Given the description of an element on the screen output the (x, y) to click on. 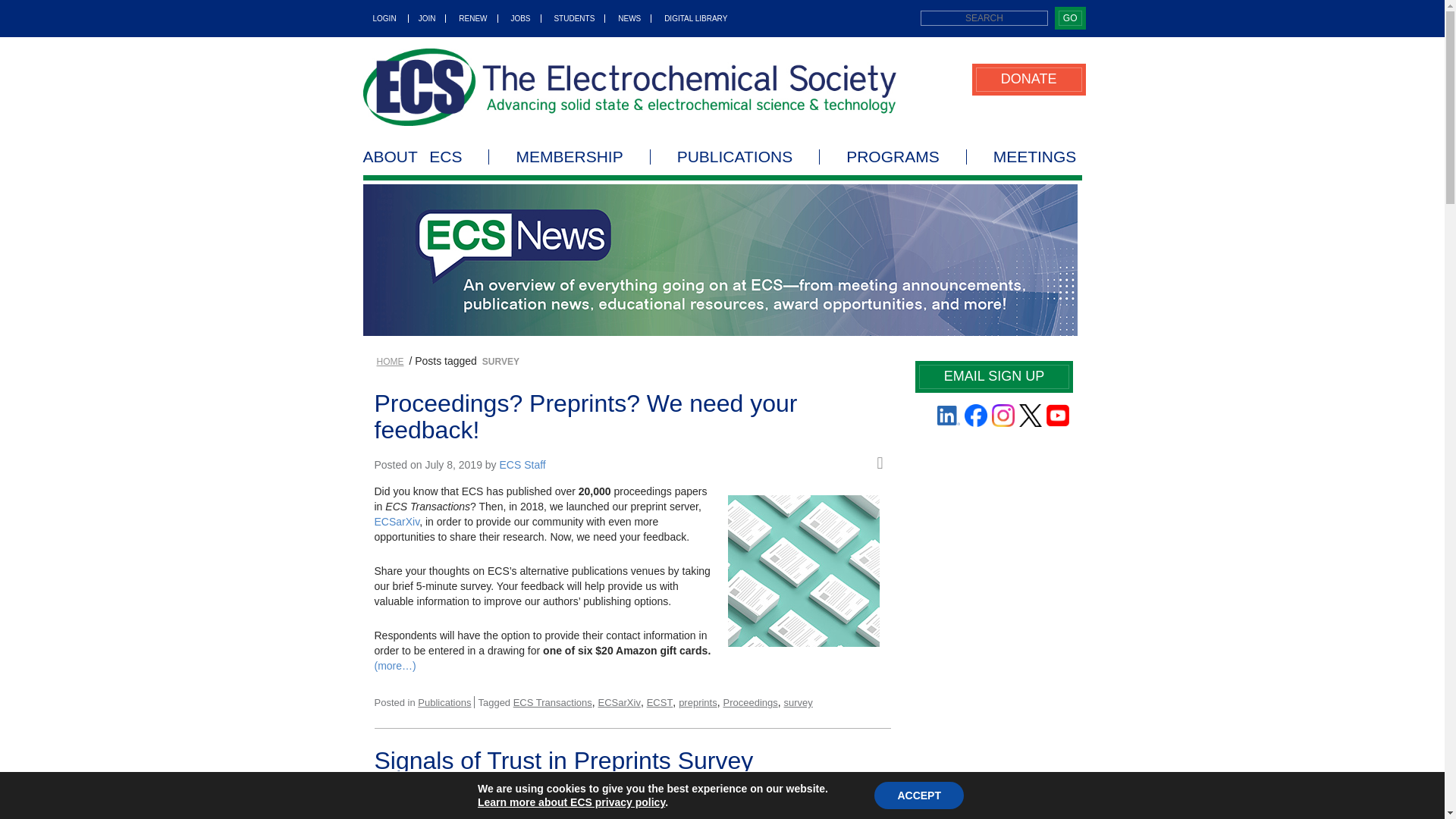
By ECS Staff (521, 464)
LOGIN (384, 18)
ABOUT ECS (425, 156)
GO (1069, 17)
RENEW (472, 18)
By ECS Staff (529, 795)
DONATE (1028, 78)
JOBS (520, 18)
STUDENTS (574, 18)
ECS (629, 87)
DIGITAL LIBRARY (689, 18)
NEWS (629, 18)
JOIN (427, 18)
DONATE (1028, 79)
